Given the description of an element on the screen output the (x, y) to click on. 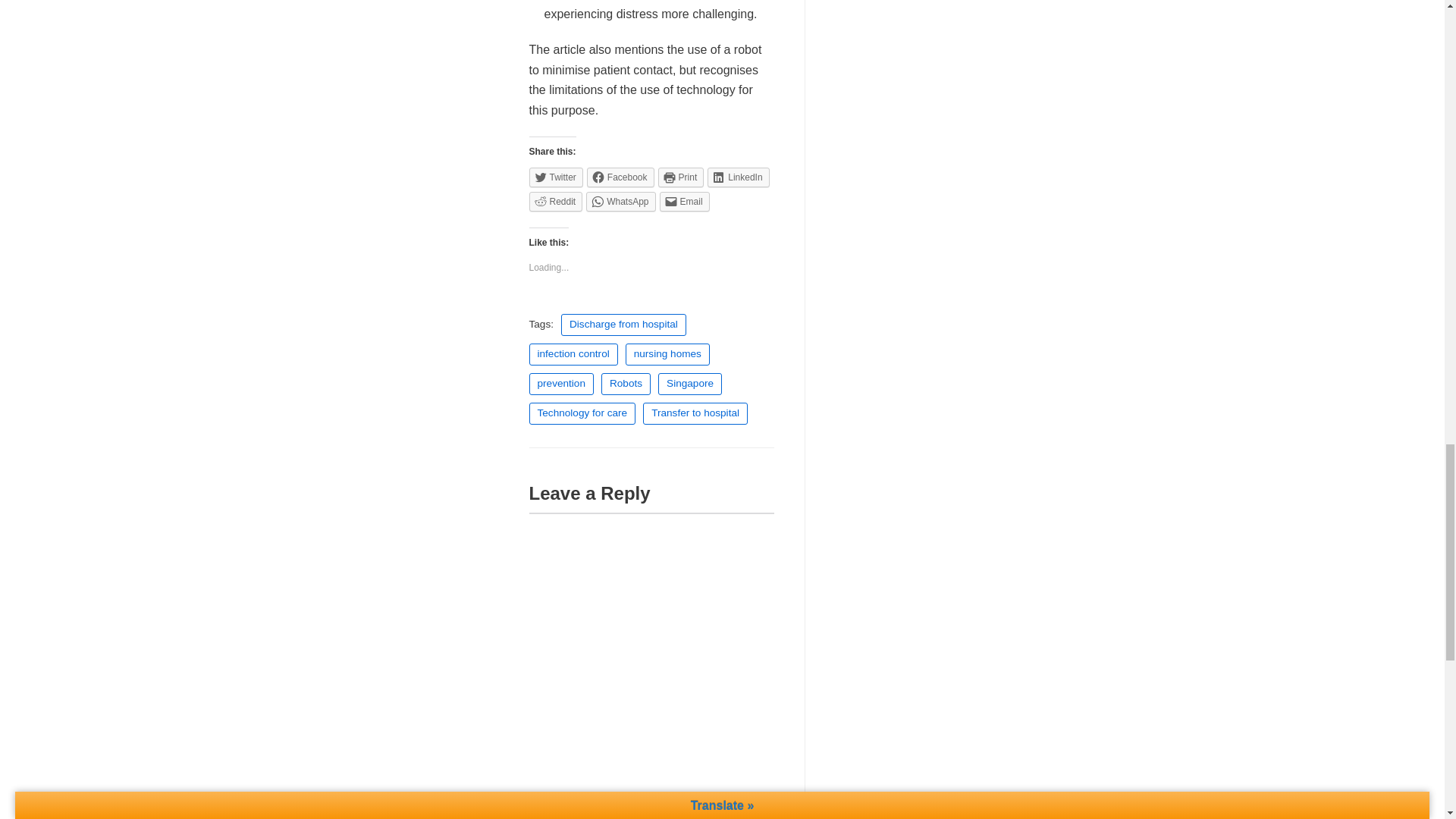
nursing homes (668, 354)
Singapore (690, 383)
Twitter (556, 177)
Reddit (556, 201)
Robots (625, 383)
Click to email this to a friend (684, 201)
Click to share on Facebook (619, 177)
nursing homes (668, 354)
Robots (625, 383)
Click to share on WhatsApp (620, 201)
